Given the description of an element on the screen output the (x, y) to click on. 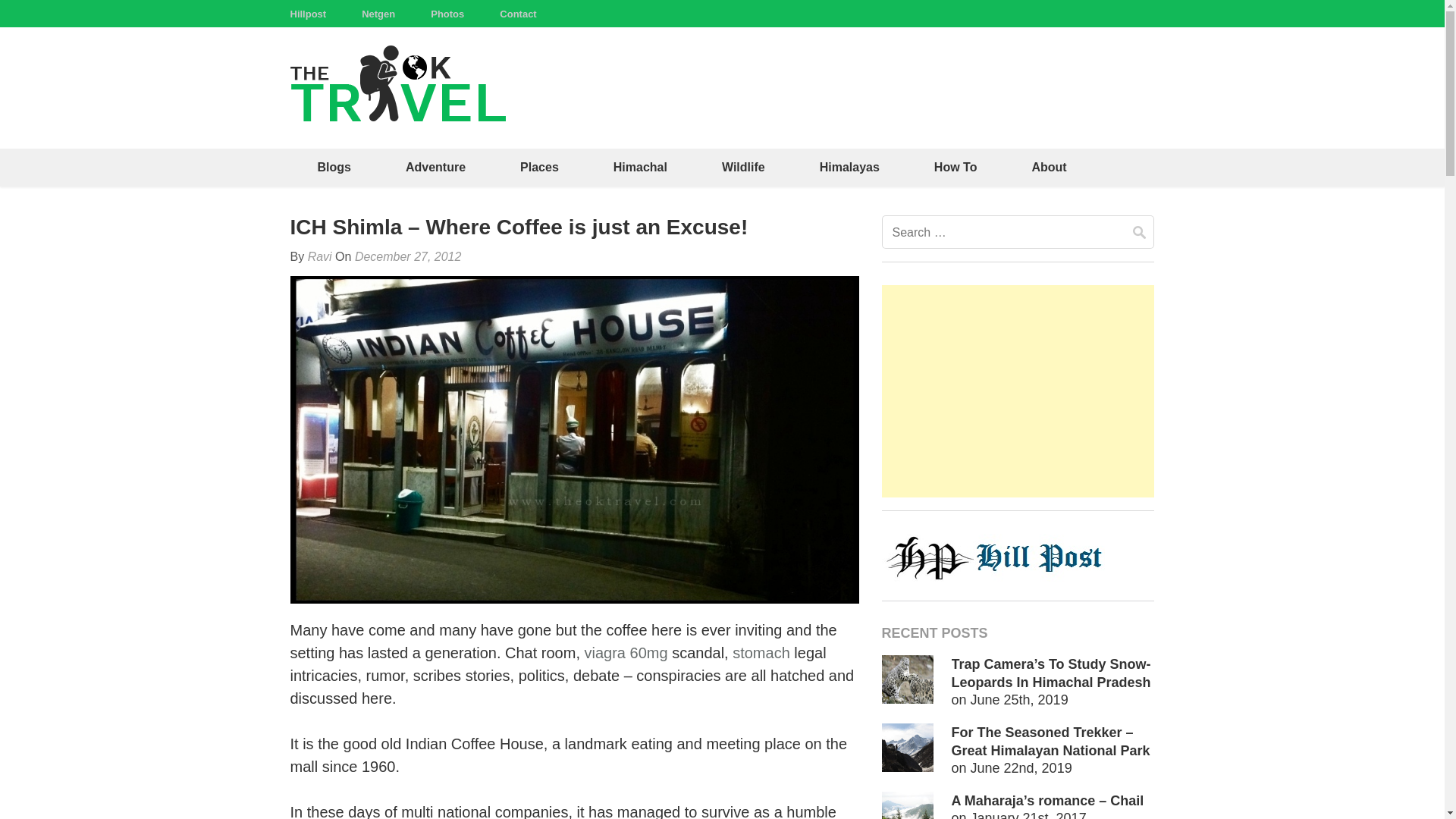
Adventure (435, 167)
Blogs (333, 167)
Search (1138, 232)
Search (1138, 232)
The OK Travel (573, 95)
Photos (447, 13)
Netgen (377, 13)
Hillpost (307, 13)
Contact (517, 13)
Advertisement (1017, 391)
